Given the description of an element on the screen output the (x, y) to click on. 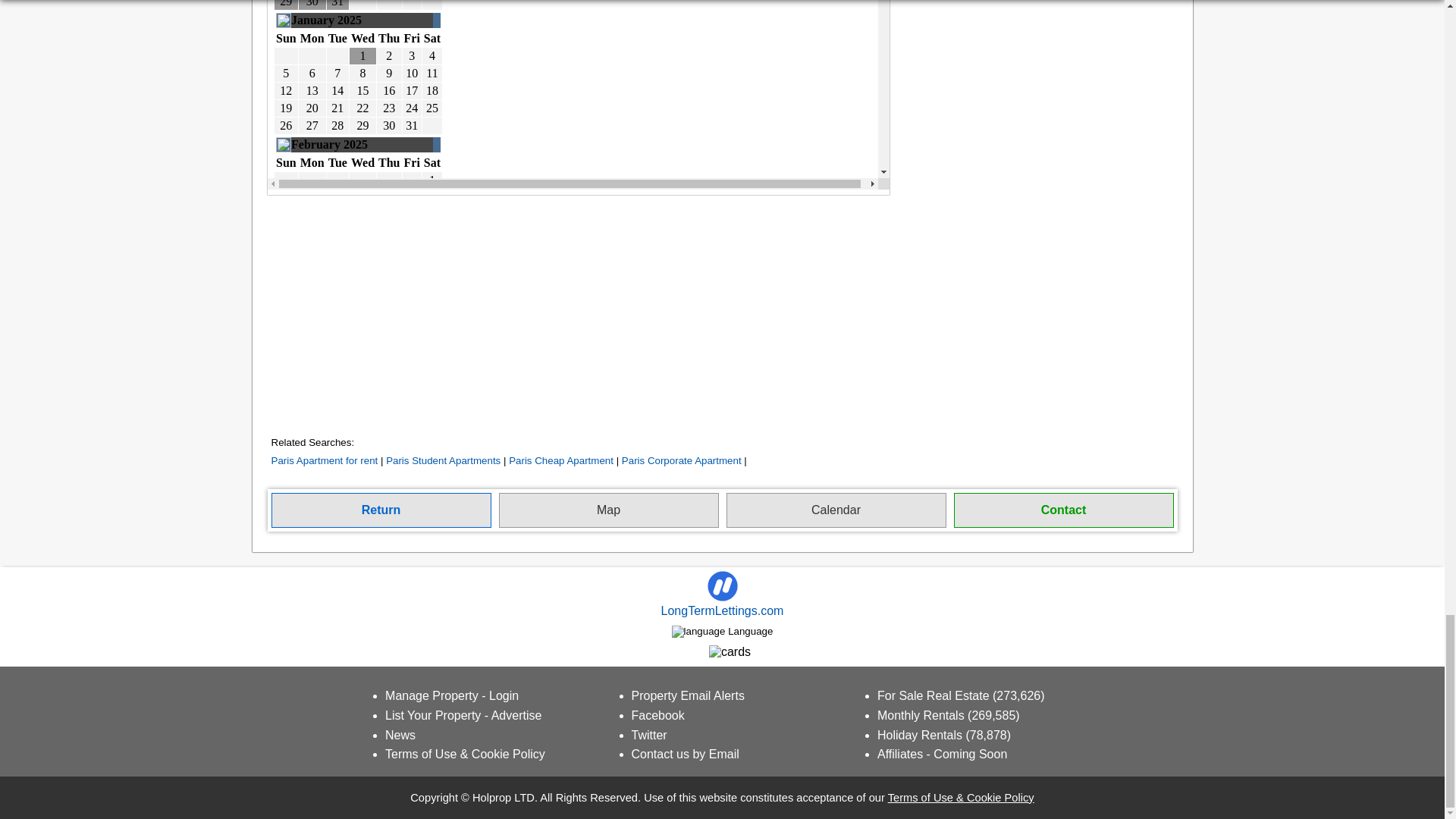
Paris Student Apartments (442, 460)
Paris Apartment for rent (324, 460)
Paris Cheap Apartment (560, 460)
